Given the description of an element on the screen output the (x, y) to click on. 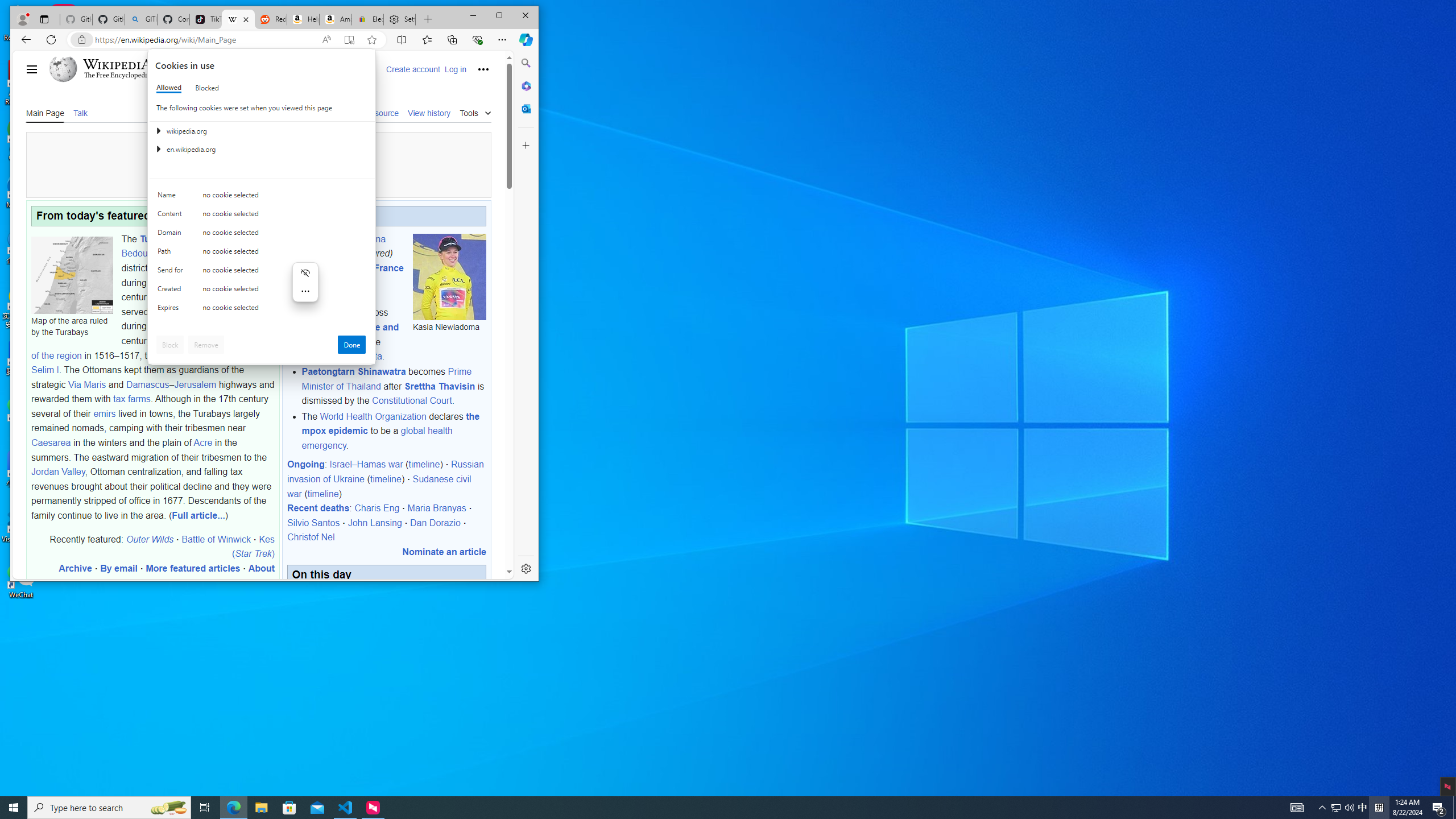
Class: c0153 c0157 c0154 (261, 197)
Content (172, 216)
Block (169, 344)
Allowed (169, 87)
Notification Chevron (1322, 807)
Type here to search (108, 807)
Task View (204, 807)
Mini menu on text selection (304, 281)
Done (351, 344)
Microsoft Store (289, 807)
User Promoted Notification Area (1342, 807)
Running applications (707, 807)
Q2790: 100% (1349, 807)
Class: c0153 c0157 (261, 309)
File Explorer (261, 807)
